Given the description of an element on the screen output the (x, y) to click on. 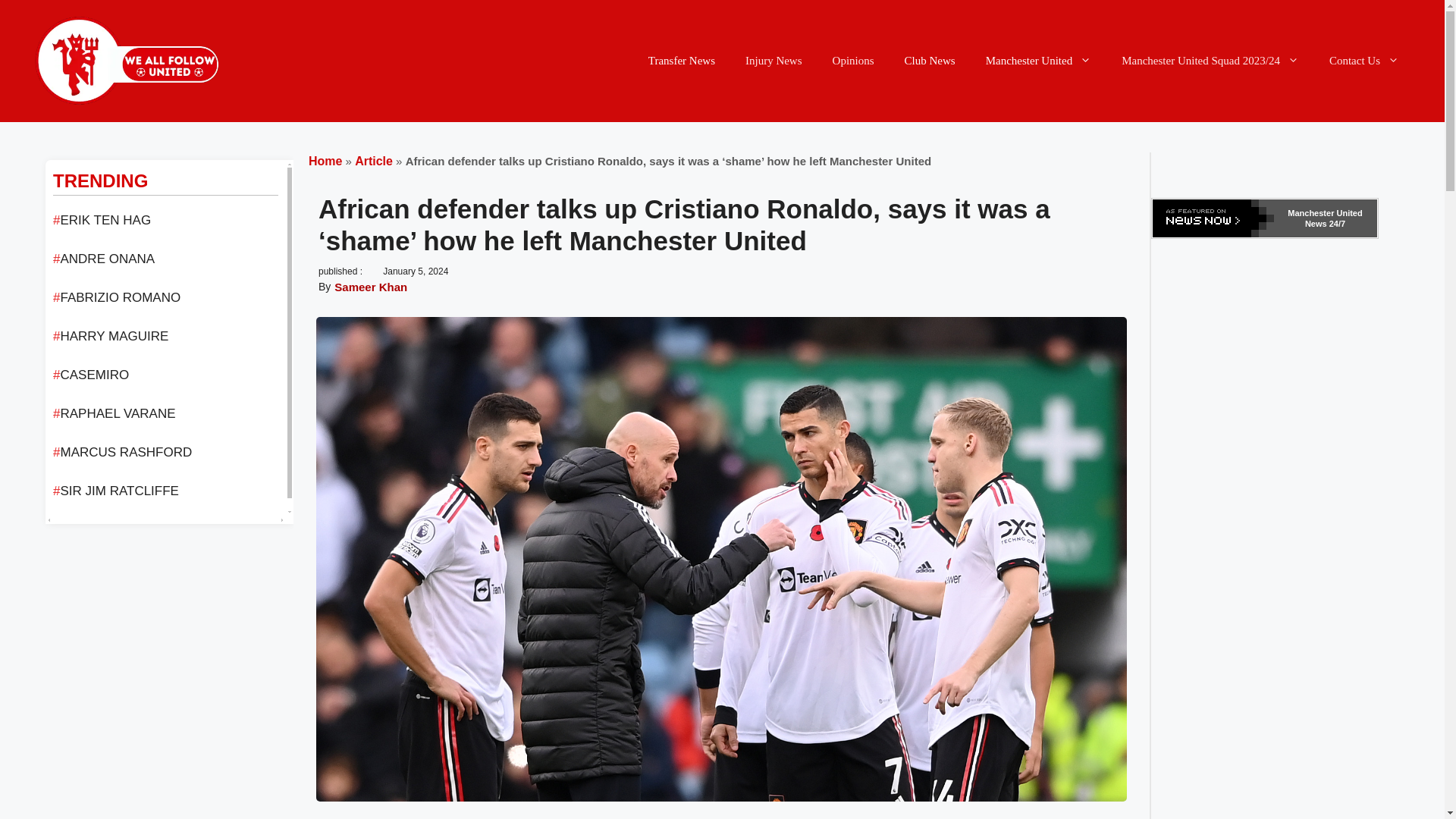
Click here for more Manchester United news from NewsNow (1264, 218)
Injury News (773, 60)
Transfer News (681, 60)
Opinions (852, 60)
Manchester United (1038, 60)
Club News (930, 60)
